Given the description of an element on the screen output the (x, y) to click on. 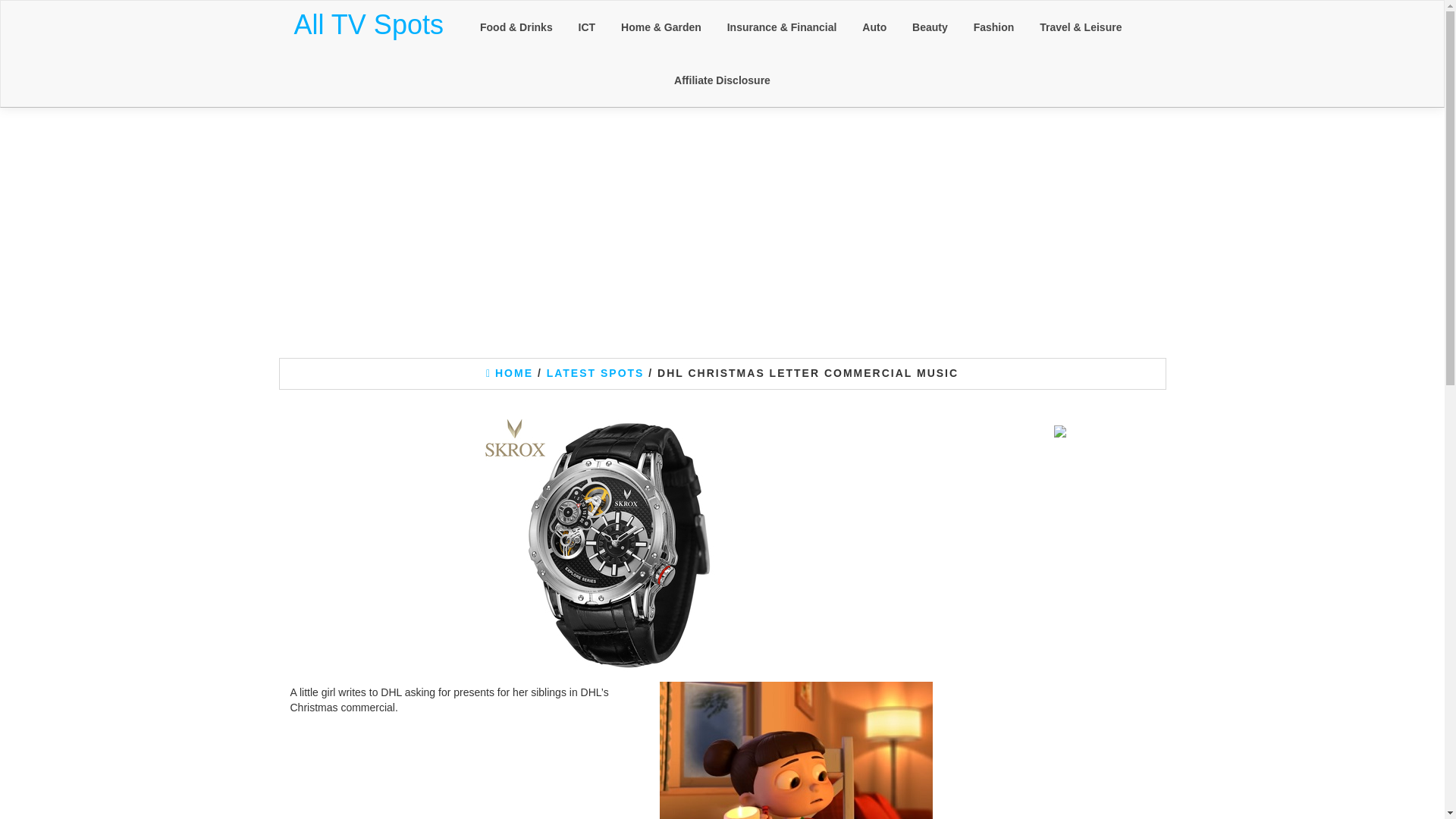
Auto (874, 27)
All TV Spots (369, 24)
Fashion (994, 27)
Affiliate Disclosure (721, 80)
Beauty (930, 27)
All TV Spots (369, 24)
Beauty (930, 27)
Affiliate Disclosure (721, 80)
Auto (874, 27)
ICT (587, 27)
Fashion (994, 27)
Advertisement (1060, 662)
LATEST SPOTS (596, 372)
ICT (587, 27)
